Given the description of an element on the screen output the (x, y) to click on. 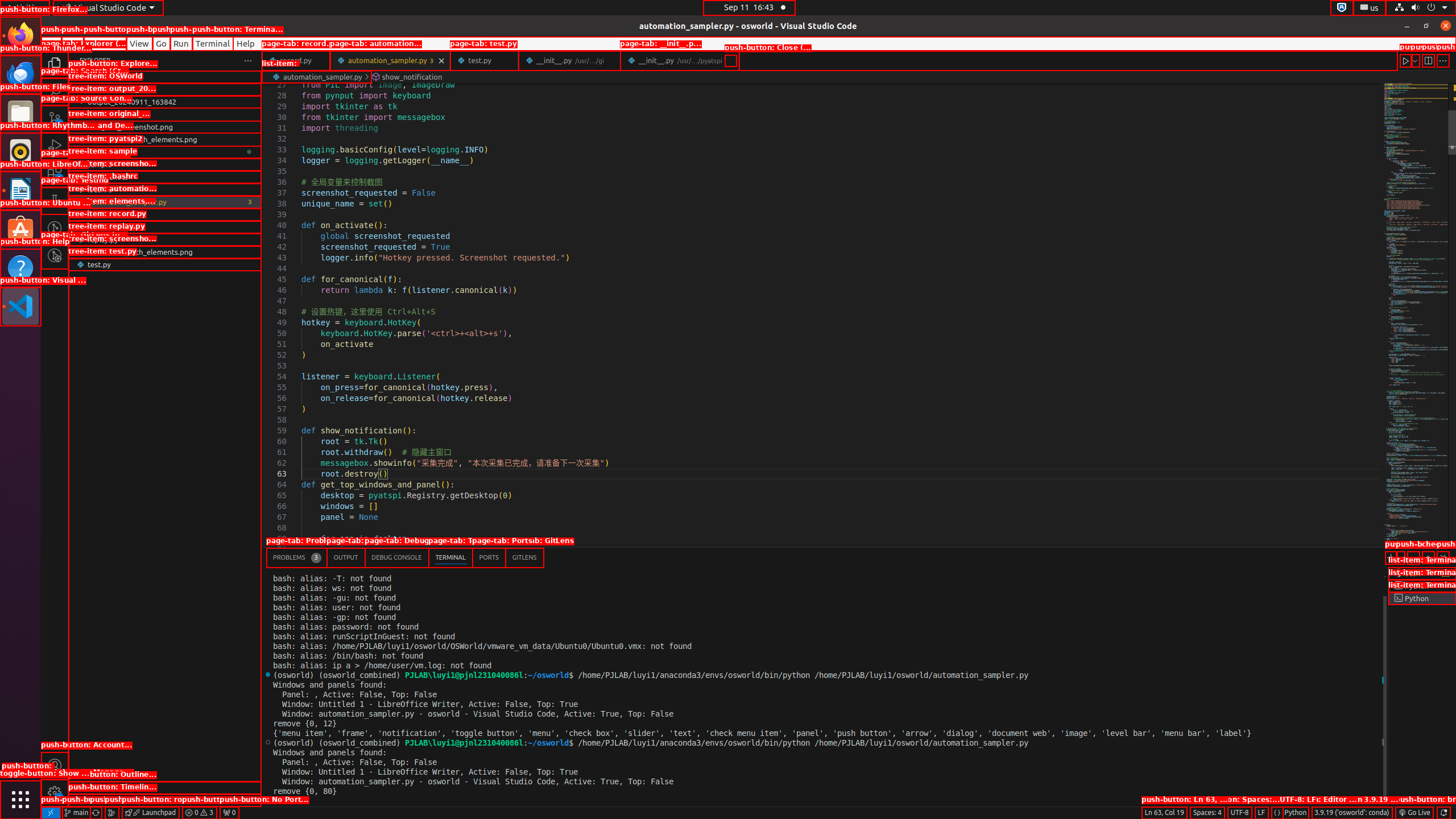
Active View Switcher Element type: page-tab-list (404, 557)
.bashrc Element type: tree-item (164, 189)
Manage - New Code update available. Element type: push-button (54, 792)
Accounts Element type: push-button (54, 765)
elements.json Element type: tree-item (164, 214)
